Given the description of an element on the screen output the (x, y) to click on. 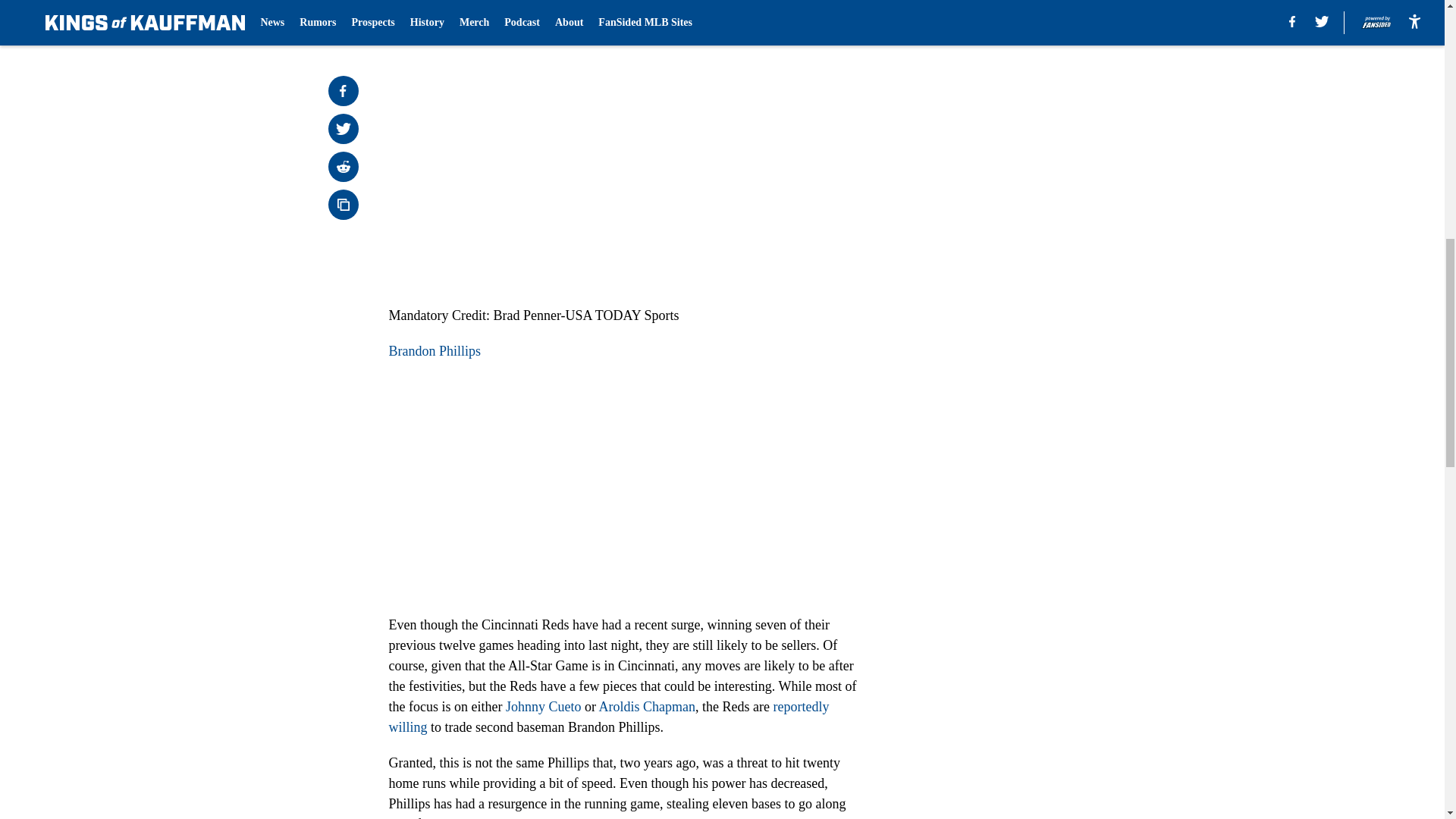
Prev (433, 5)
Johnny Cueto (542, 706)
Brandon Phillips (434, 350)
Aroldis Chapman (646, 706)
reportedly willing (608, 716)
Next (813, 5)
